Given the description of an element on the screen output the (x, y) to click on. 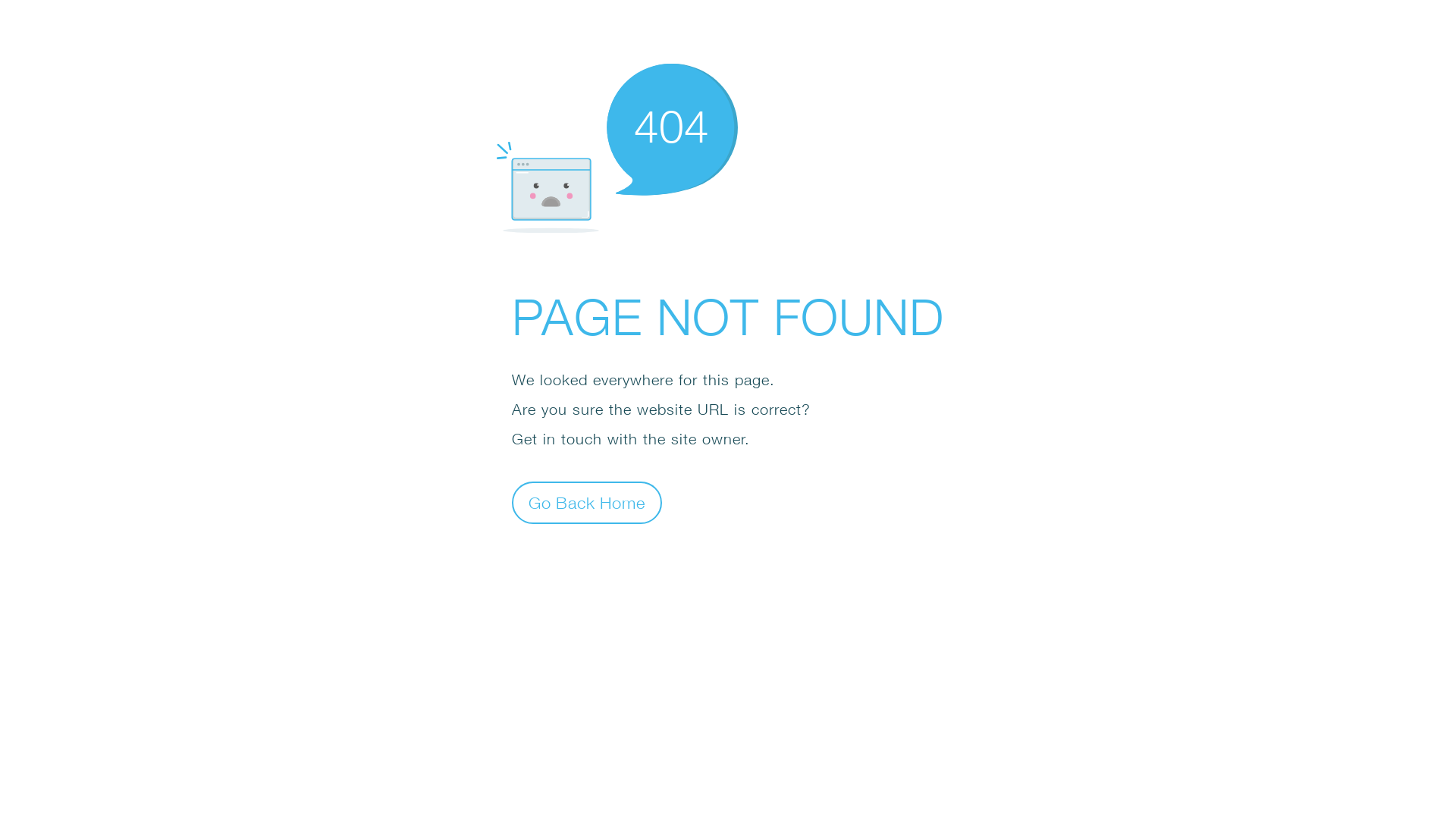
Go Back Home Element type: text (586, 502)
